Given the description of an element on the screen output the (x, y) to click on. 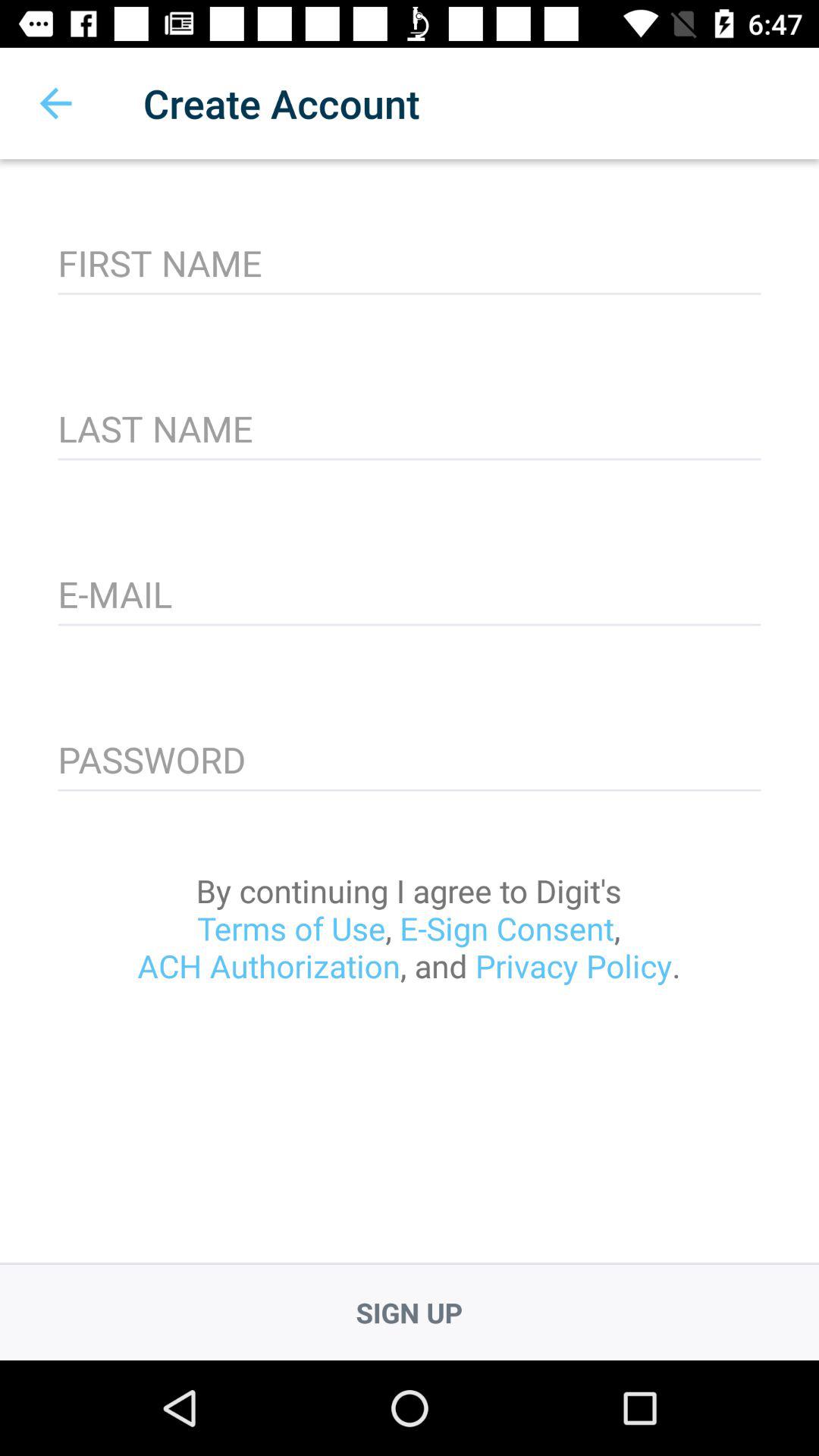
turn off item next to the create account (55, 103)
